Given the description of an element on the screen output the (x, y) to click on. 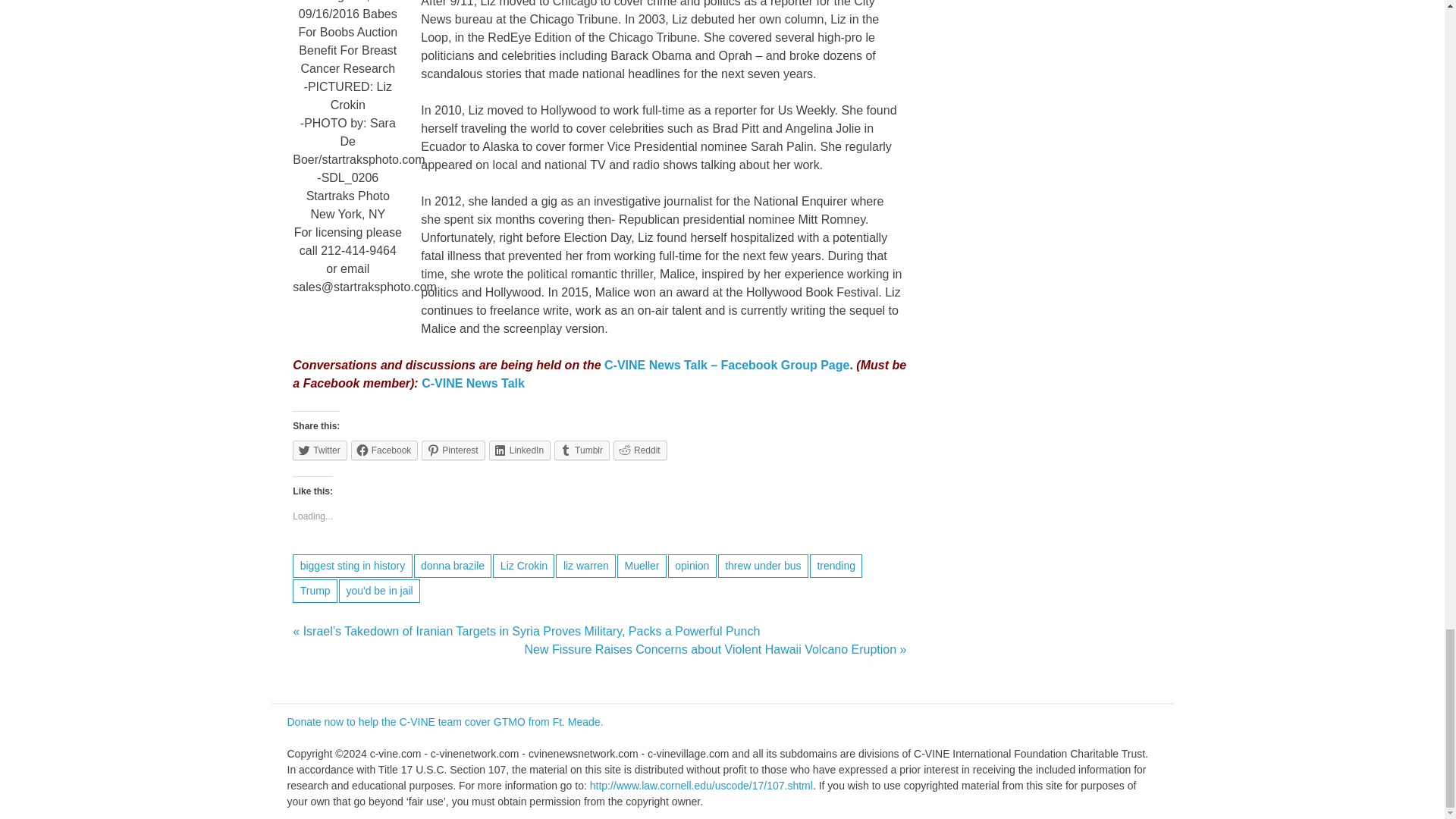
Pinterest (453, 450)
trending (835, 566)
Click to share on LinkedIn (519, 450)
you'd be in jail (379, 590)
opinion (692, 566)
liz warren (585, 566)
Facebook (384, 450)
biggest sting in history (352, 566)
Click to share on Reddit (639, 450)
Trump (314, 590)
